Given the description of an element on the screen output the (x, y) to click on. 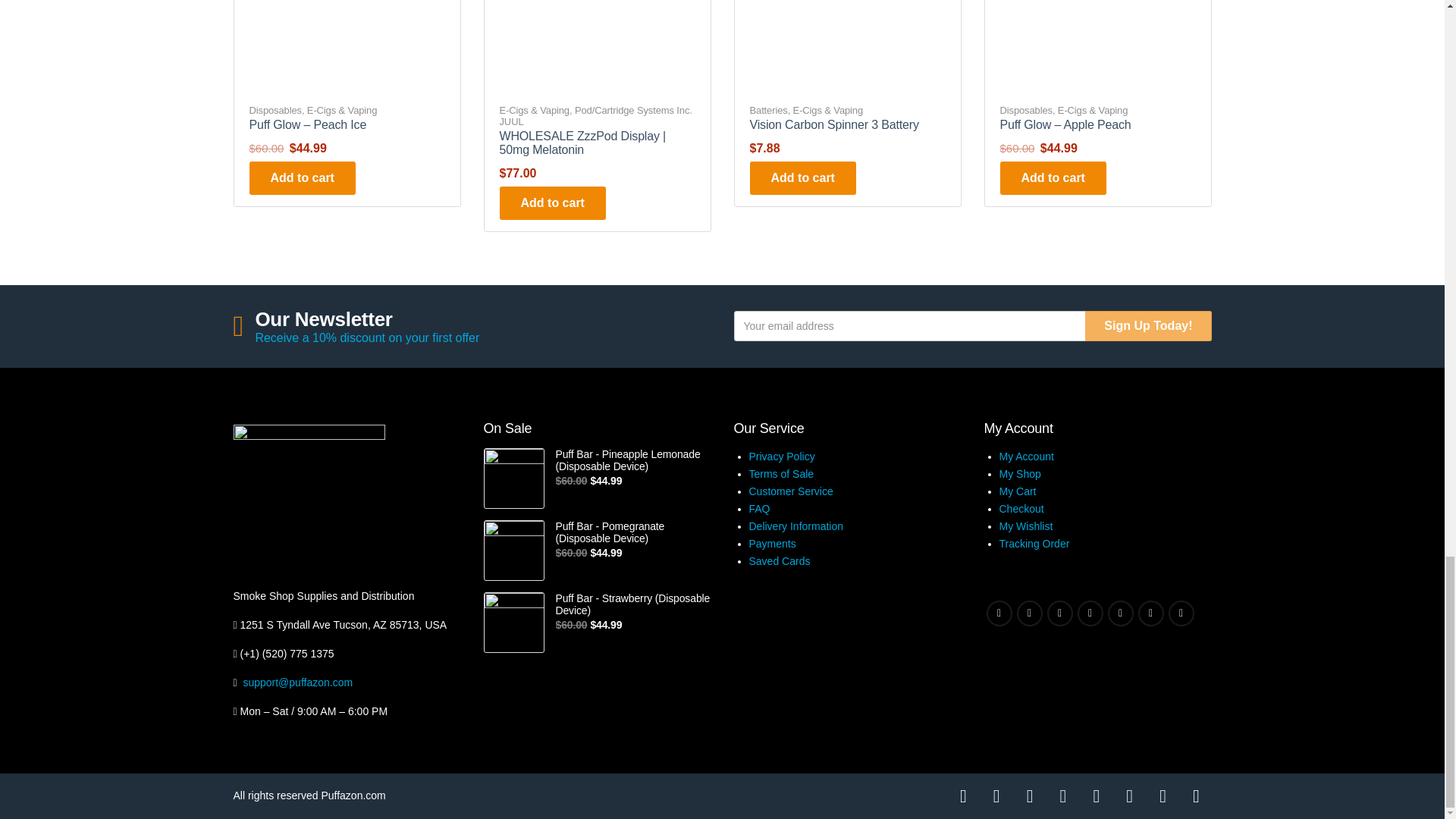
Vision Carbon Spinner 3 Battery (833, 124)
Add to cart (301, 177)
Batteries (768, 110)
Add to cart (552, 203)
Add to cart (802, 177)
Disposables (1024, 110)
Disposables (274, 110)
